Given the description of an element on the screen output the (x, y) to click on. 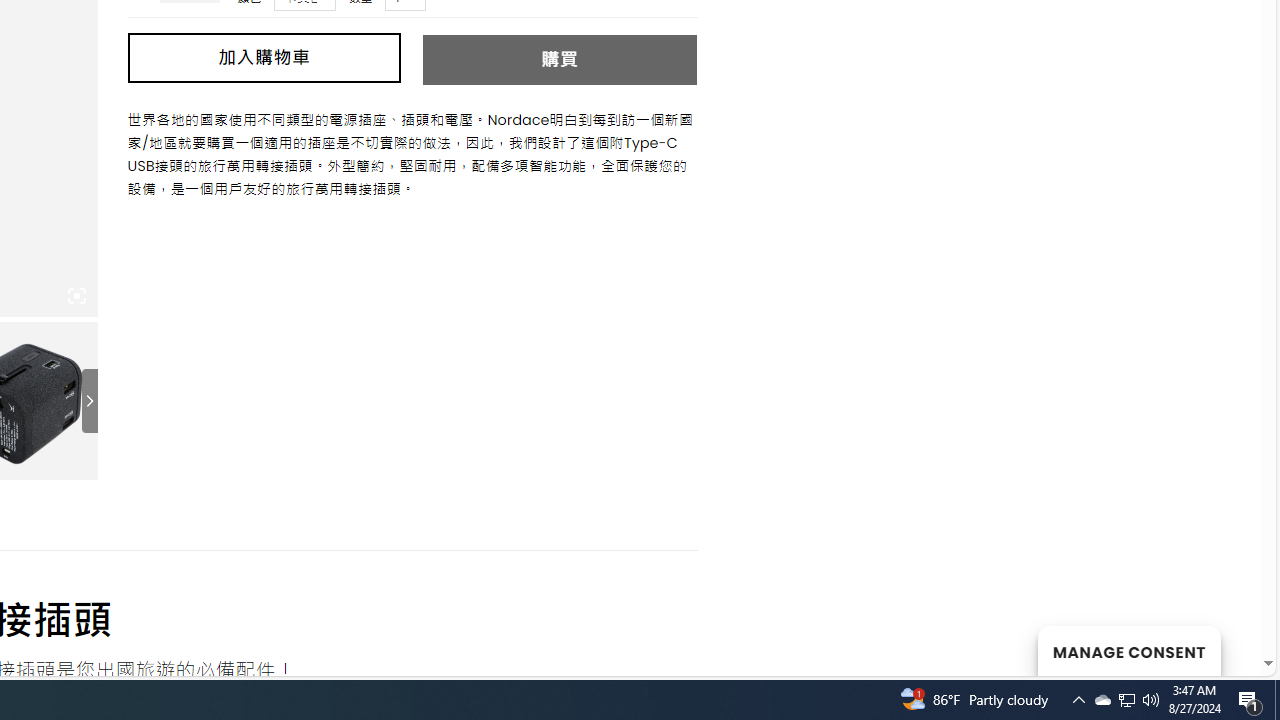
MANAGE CONSENT (1128, 650)
Class: iconic-woothumbs-fullscreen (75, 296)
